Given the description of an element on the screen output the (x, y) to click on. 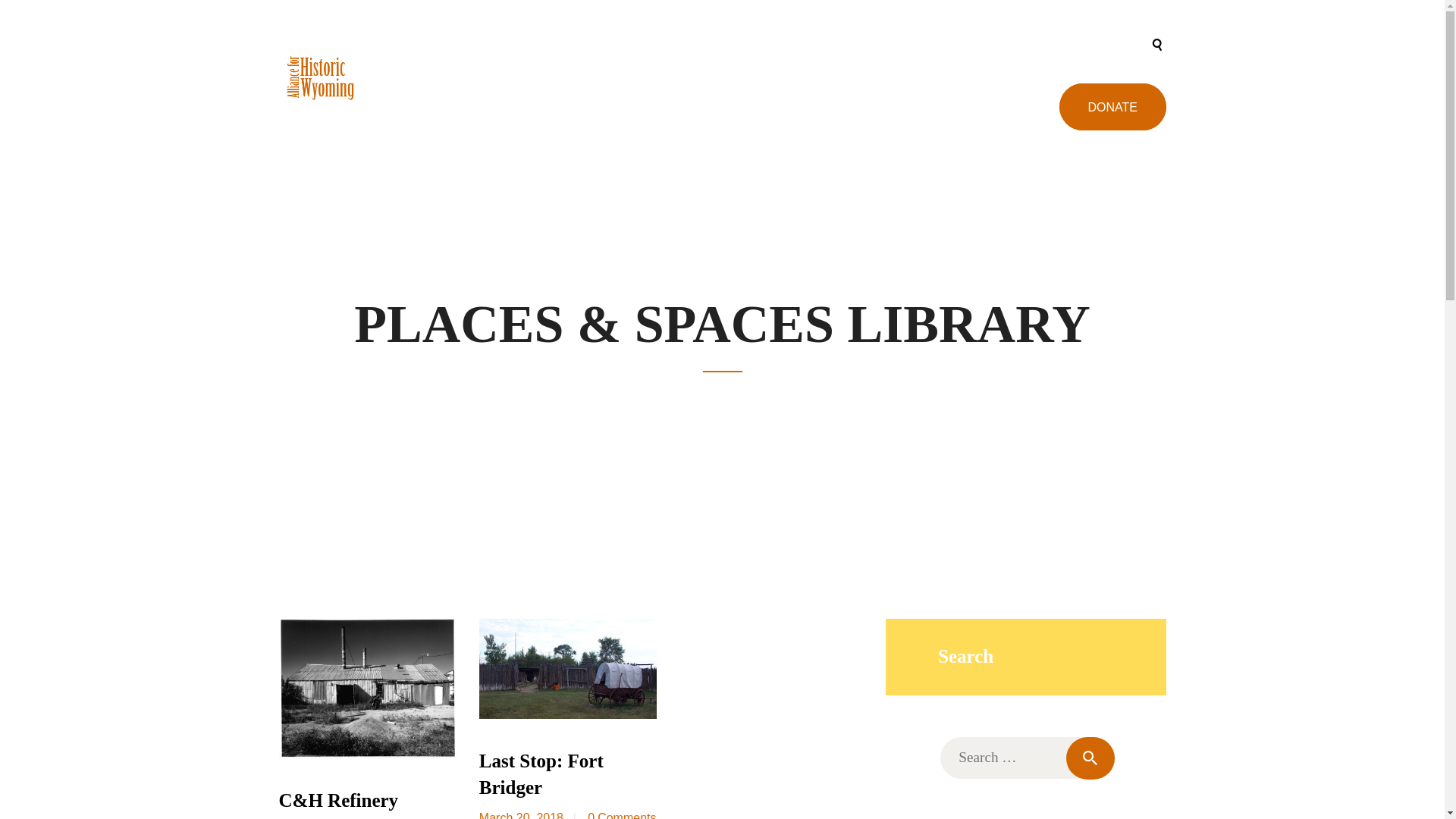
DONATE (1112, 106)
Search (1090, 757)
Search (1090, 757)
